Given the description of an element on the screen output the (x, y) to click on. 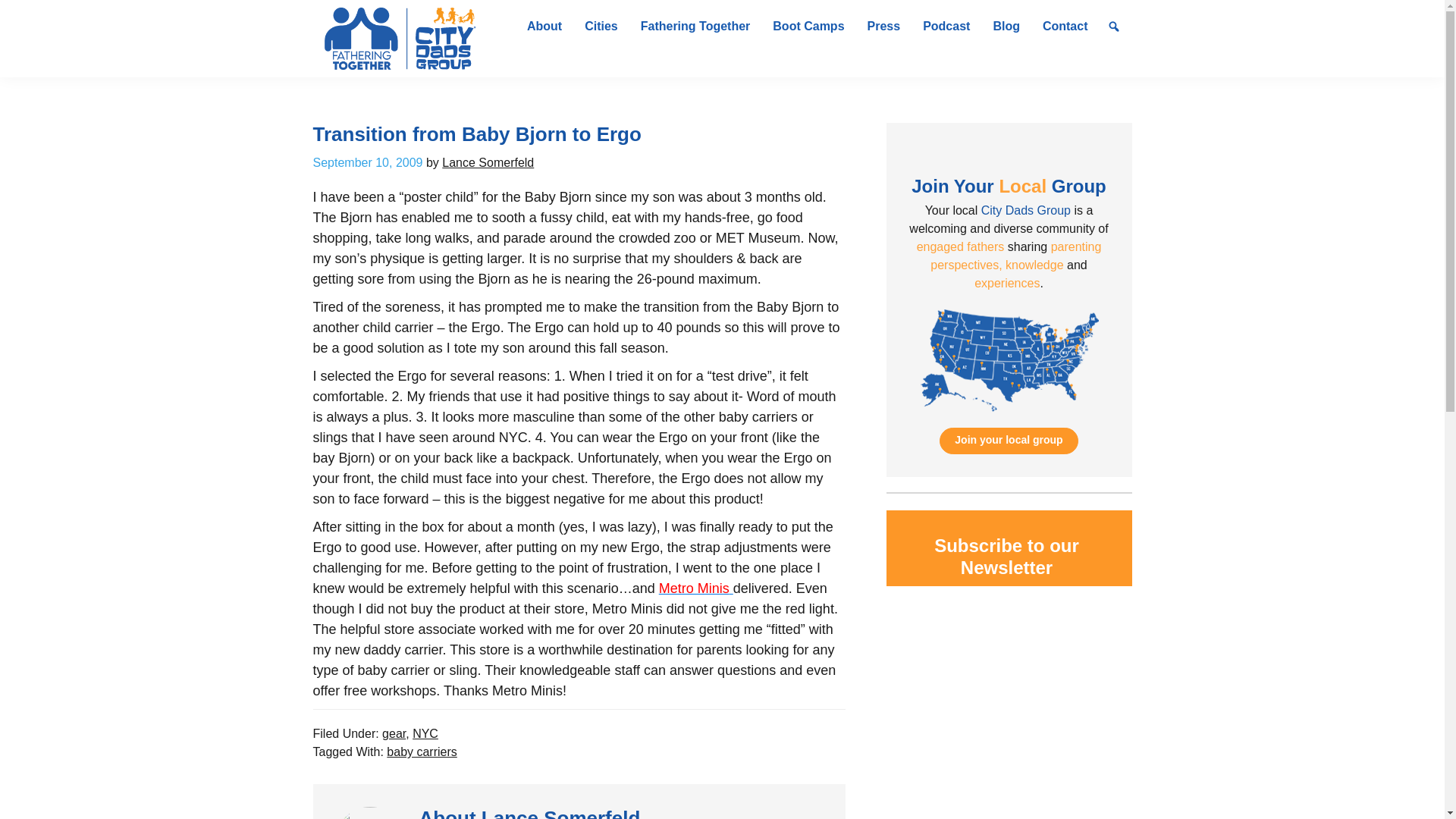
Cities (600, 26)
baby carriers (422, 751)
gear (393, 733)
Blog (1005, 26)
About (544, 26)
Lance Somerfeld (488, 162)
Contact (1064, 26)
Boot Camps (808, 26)
